Given the description of an element on the screen output the (x, y) to click on. 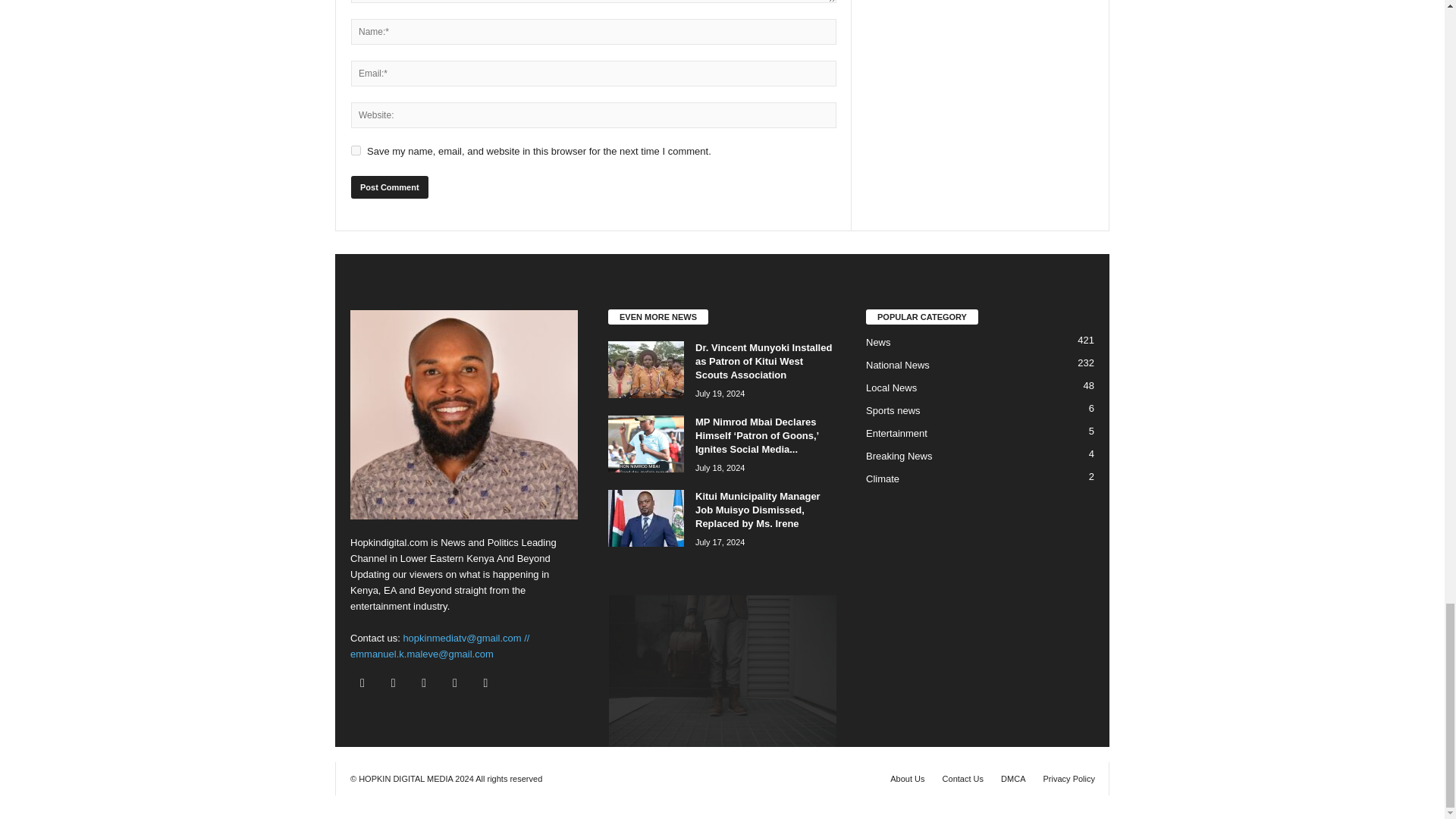
yes (355, 150)
Post Comment (389, 187)
